Given the description of an element on the screen output the (x, y) to click on. 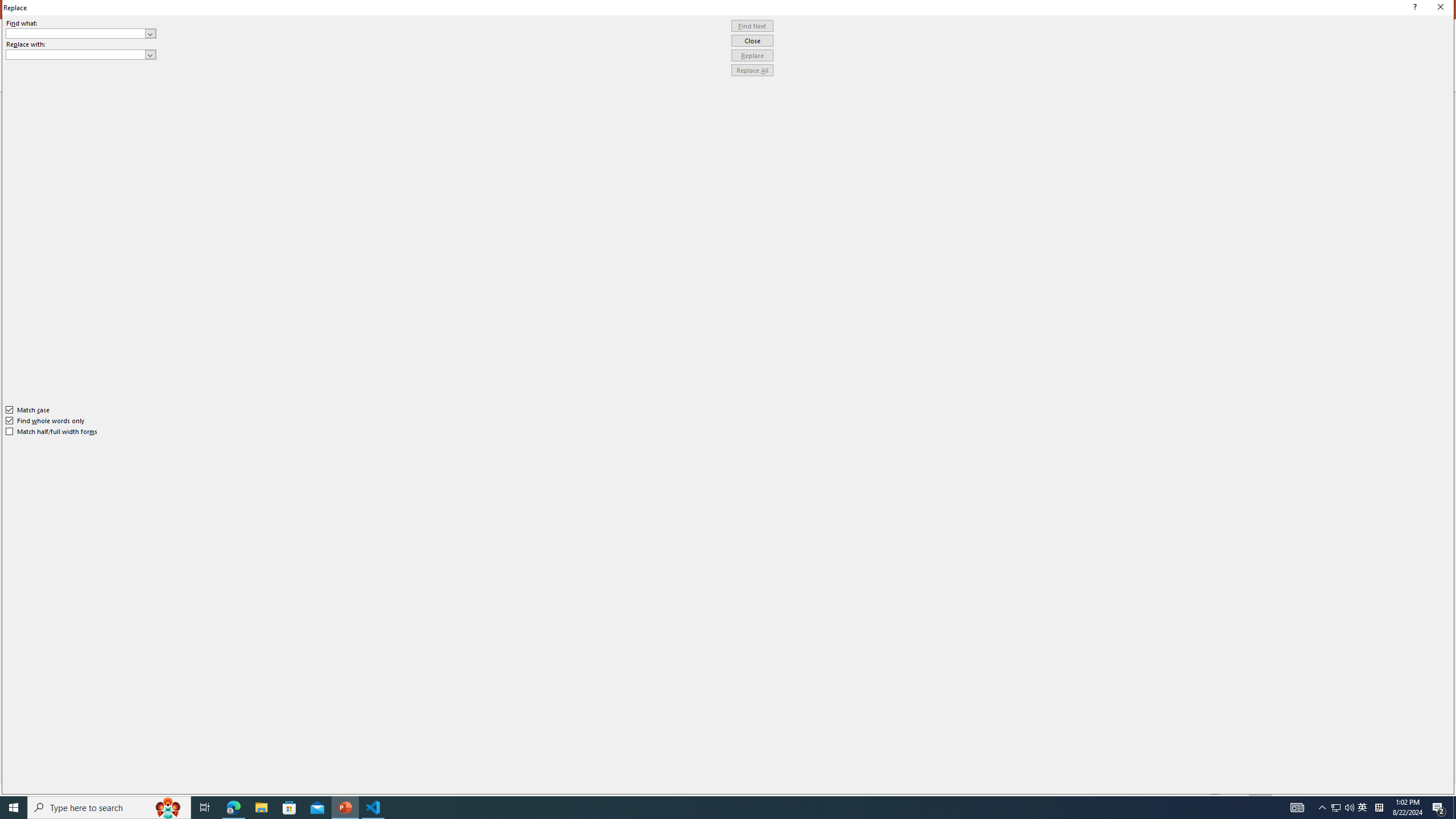
Context help (1413, 8)
Replace All (752, 69)
Find whole words only (45, 420)
Replace with (75, 53)
Replace with (80, 54)
Find what (75, 33)
Match case (27, 409)
Find what (80, 33)
Replace (752, 55)
Match half/full width forms (52, 431)
Find Next (752, 25)
